Given the description of an element on the screen output the (x, y) to click on. 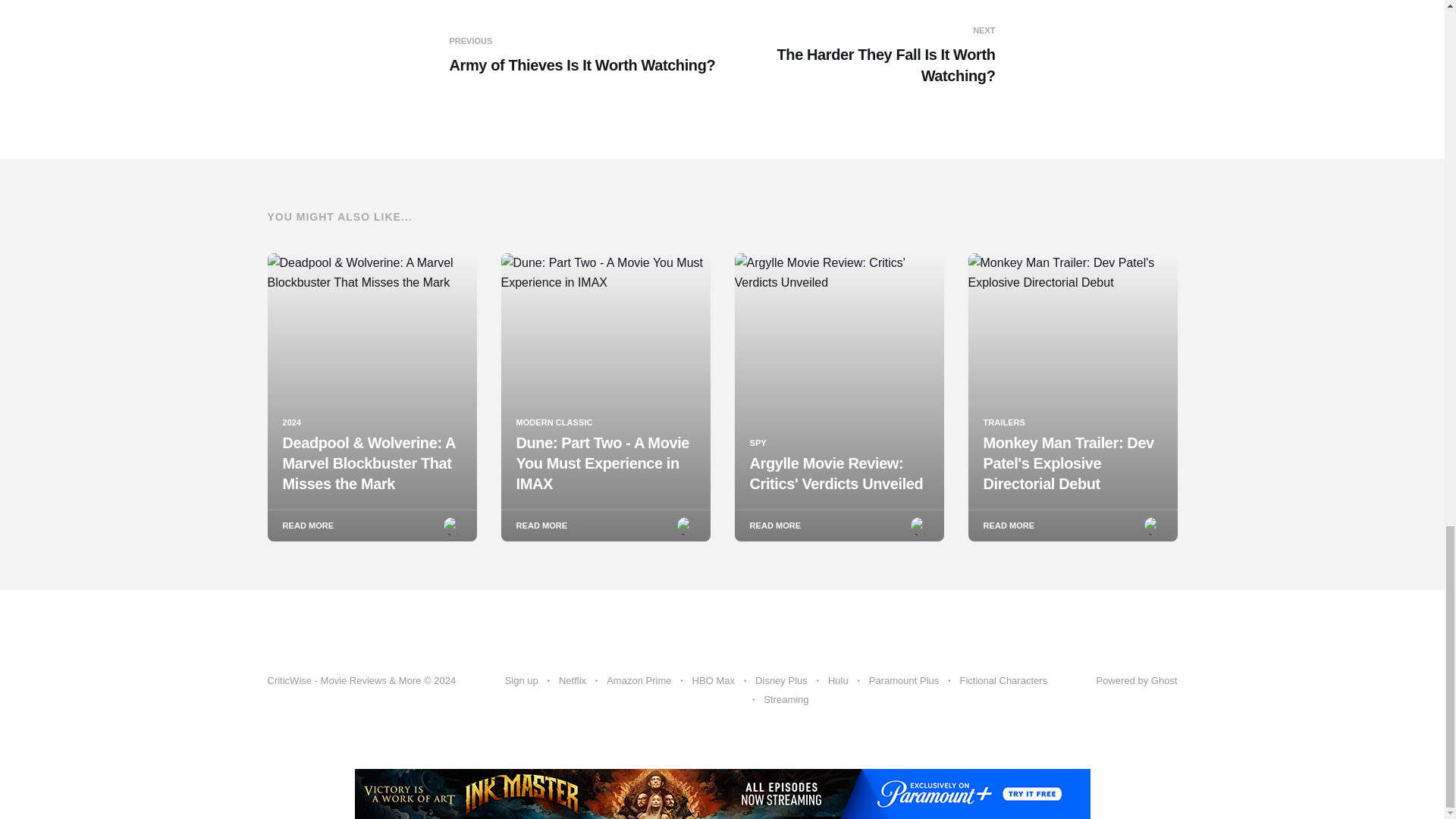
HBO Max (714, 681)
Netflix (572, 681)
Sign up (521, 681)
Paramount Plus (861, 55)
Powered by Ghost (904, 681)
Fictional Characters (582, 55)
Streaming (1136, 680)
Hulu (1002, 681)
